Given the description of an element on the screen output the (x, y) to click on. 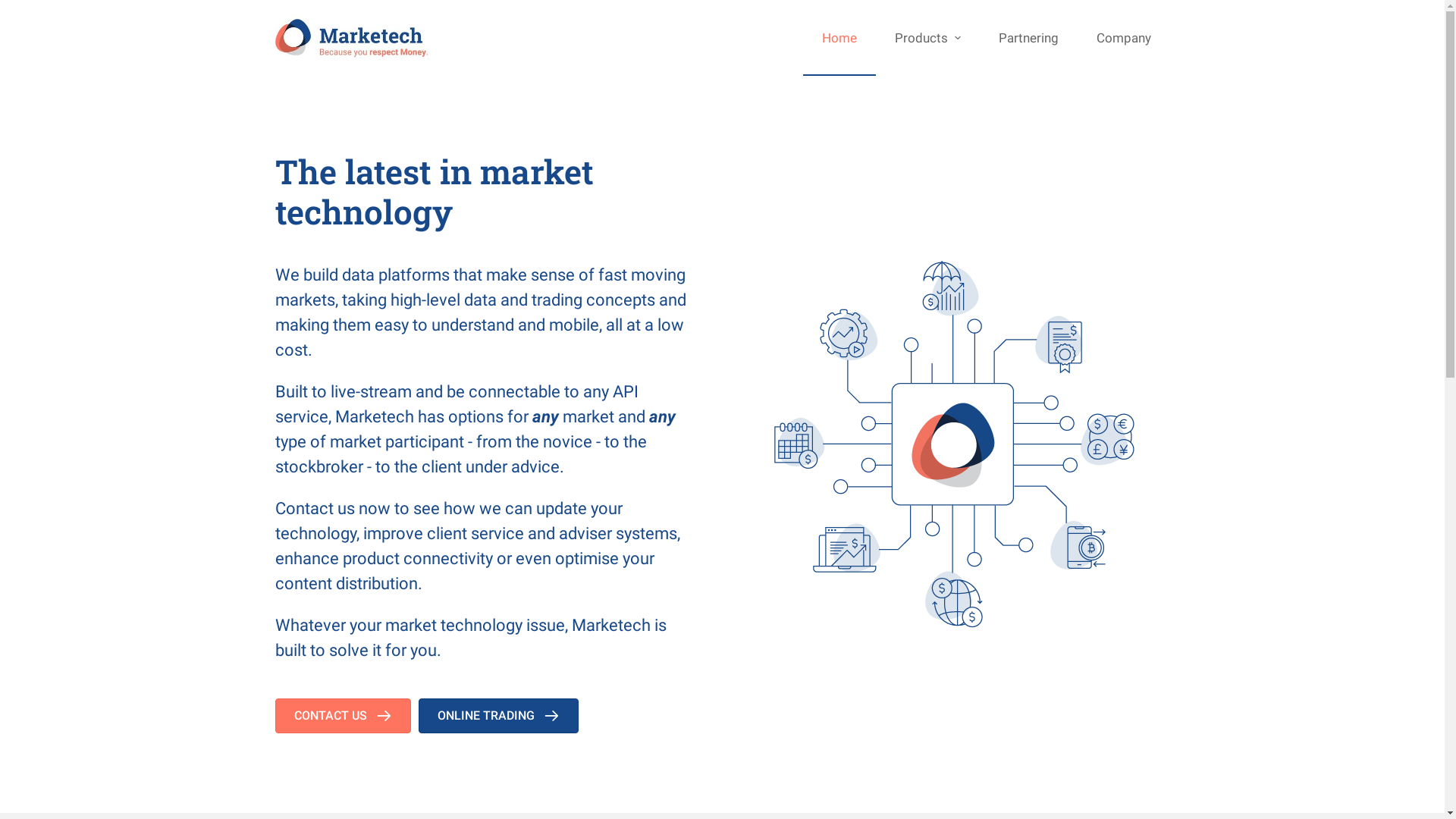
Products Element type: text (927, 37)
Company Element type: text (1122, 37)
Home Element type: text (839, 37)
Partnering Element type: text (1028, 37)
Skip to content Element type: text (15, 7)
1533 mar homepage illustration Element type: hover (953, 444)
CONTACT US Element type: text (342, 716)
ONLINE TRADING Element type: text (498, 716)
